Given the description of an element on the screen output the (x, y) to click on. 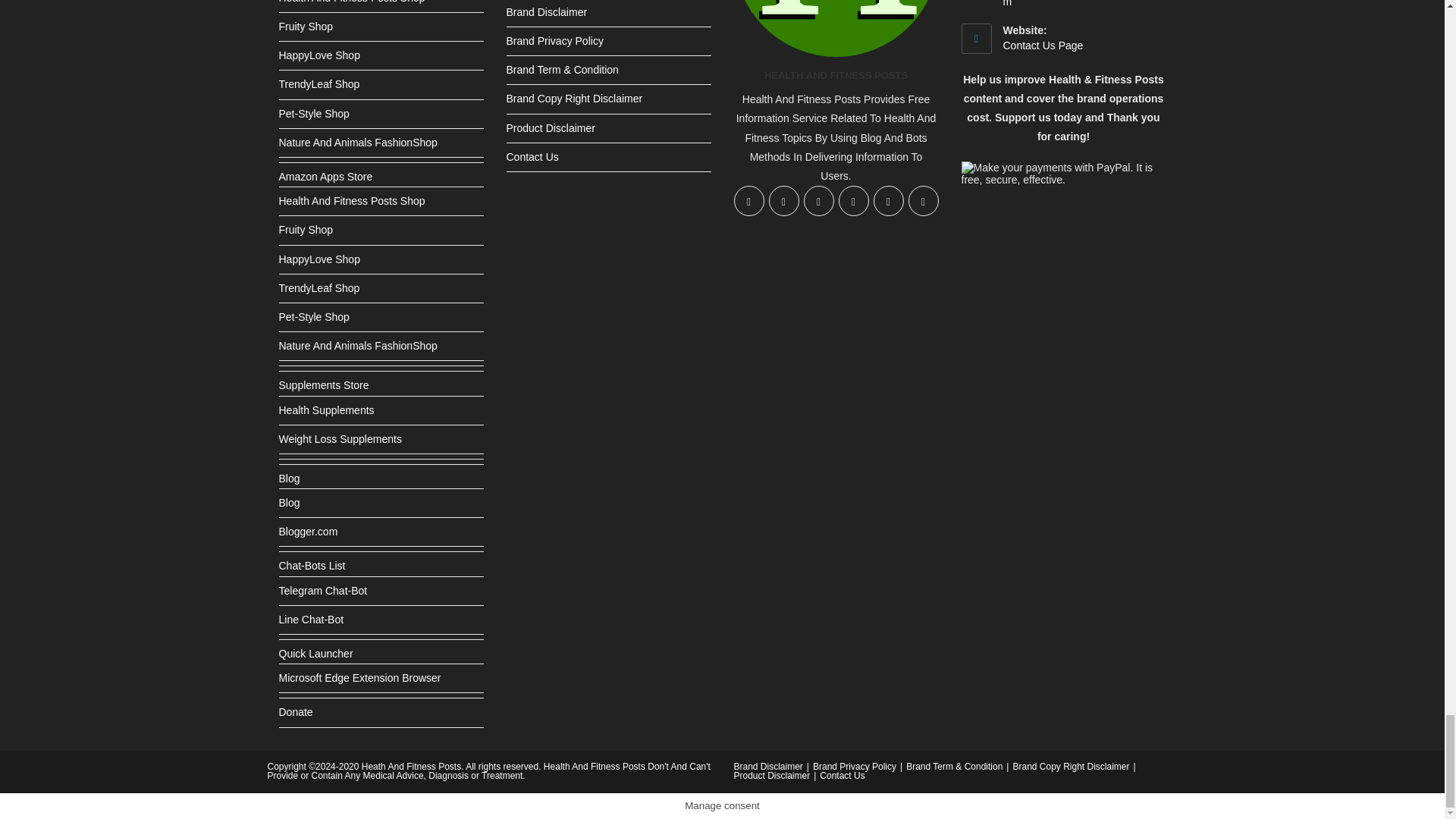
Browser Extension (316, 653)
Chrom Extenstion Browser (360, 677)
